Given the description of an element on the screen output the (x, y) to click on. 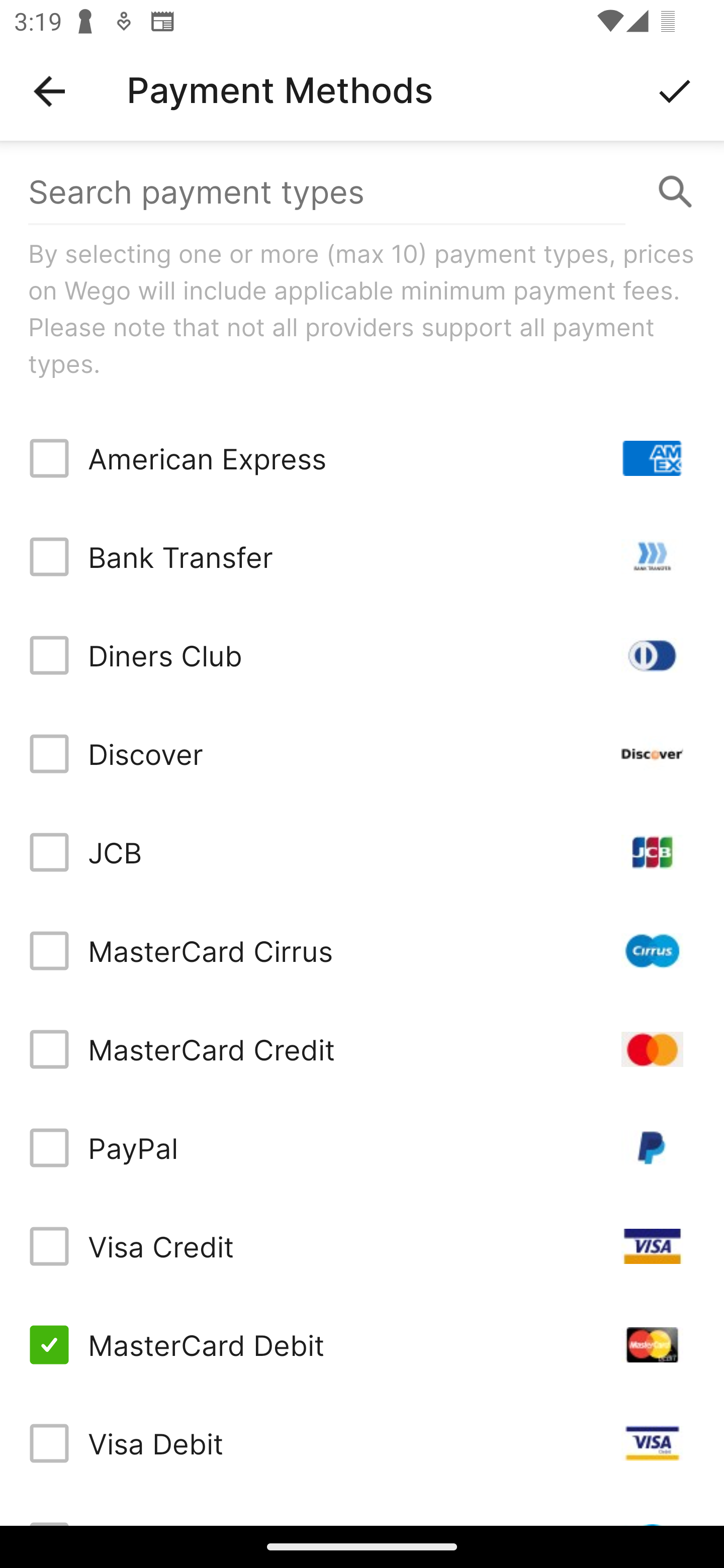
Search payment types  (361, 191)
American Express (362, 458)
Bank Transfer (362, 557)
Diners Club (362, 655)
Discover (362, 753)
JCB (362, 851)
MasterCard Cirrus (362, 950)
MasterCard Credit (362, 1049)
PayPal (362, 1147)
Visa Credit (362, 1245)
MasterCard Debit (362, 1344)
Visa Debit (362, 1442)
